Given the description of an element on the screen output the (x, y) to click on. 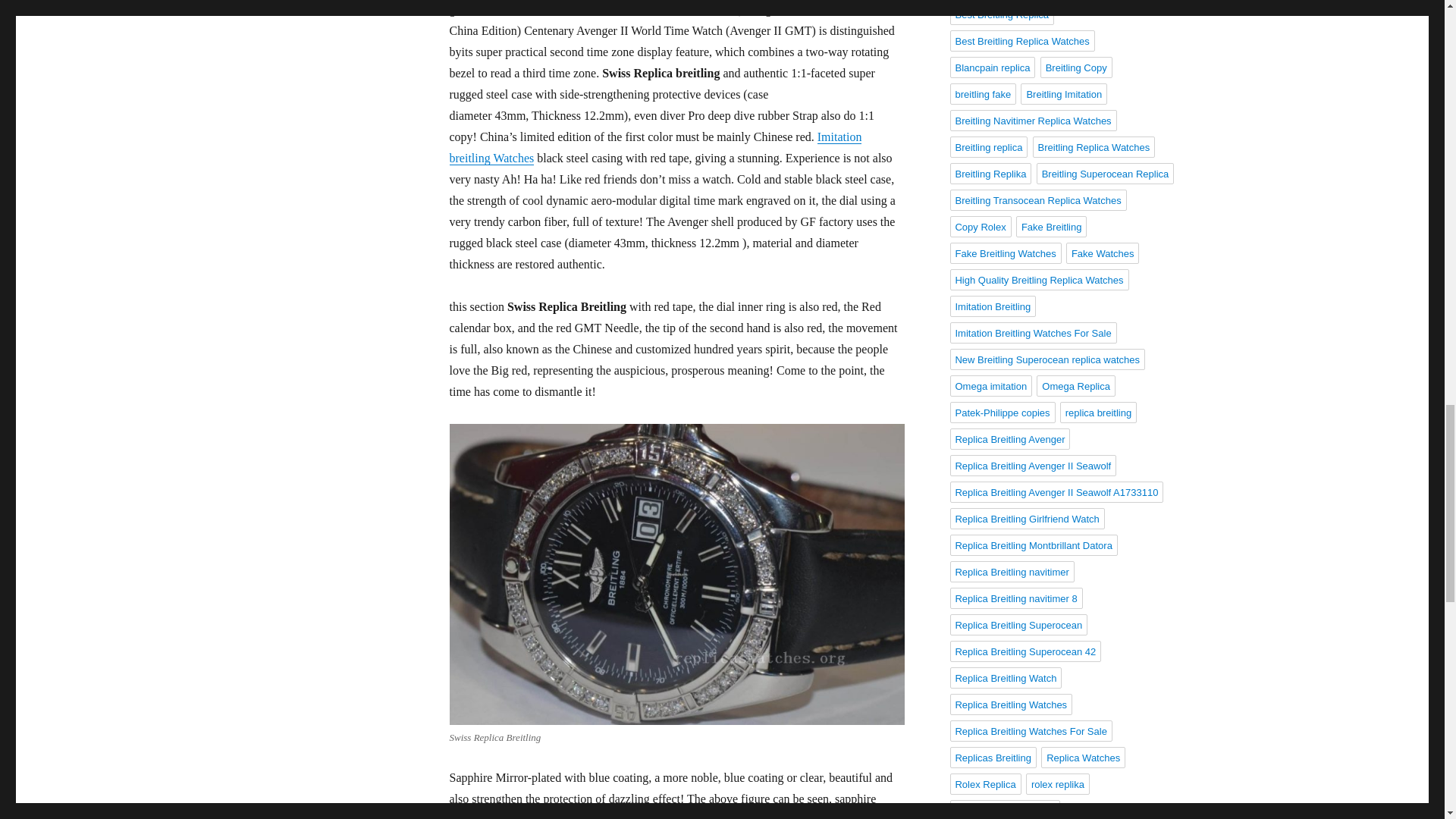
Imitation breitling Watches (654, 147)
